Given the description of an element on the screen output the (x, y) to click on. 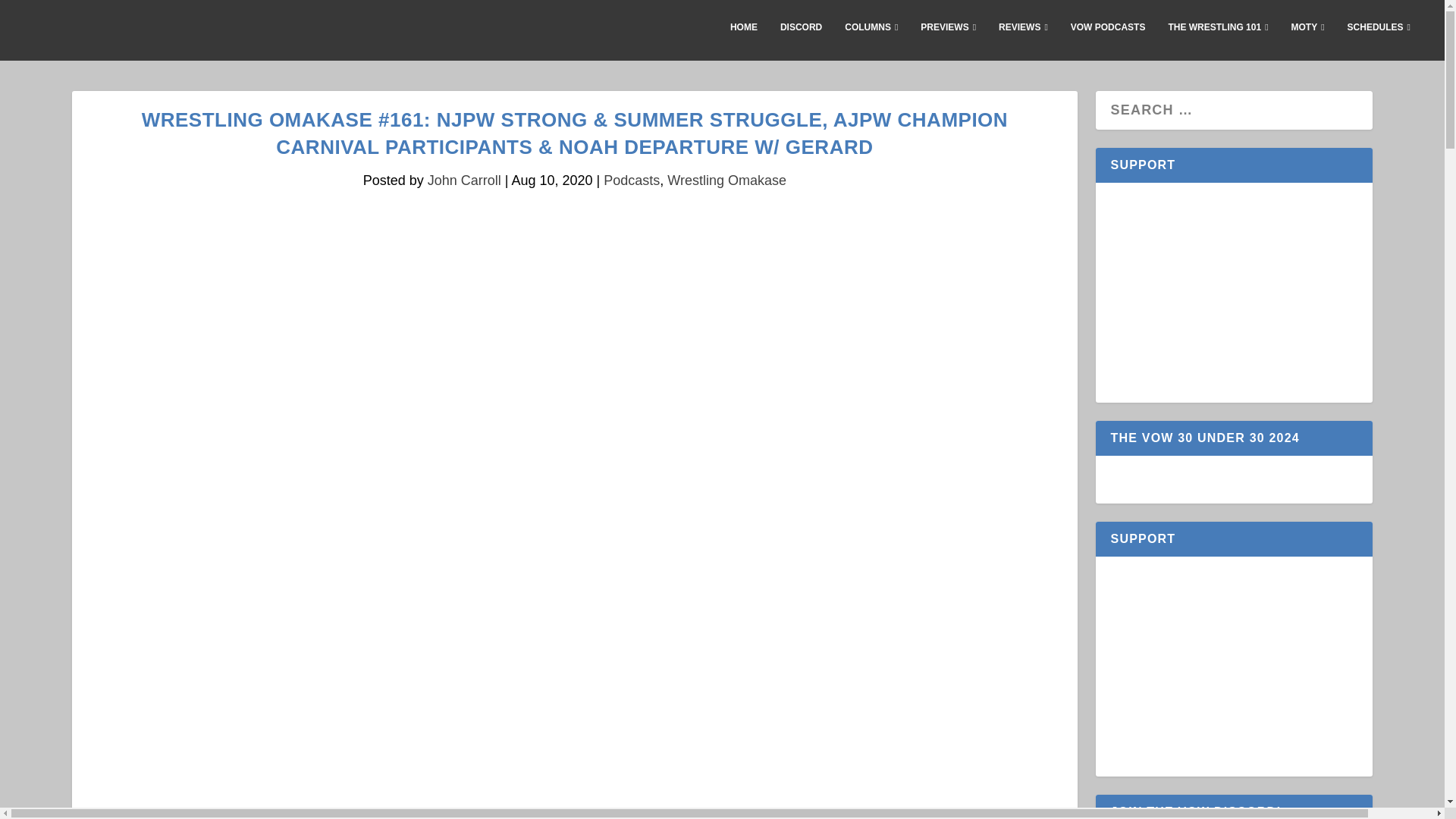
REVIEWS (1023, 39)
DISCORD (801, 39)
PREVIEWS (947, 39)
VOW PODCASTS (1107, 39)
Posts by John Carroll (464, 180)
COLUMNS (871, 39)
THE WRESTLING 101 (1217, 39)
